Given the description of an element on the screen output the (x, y) to click on. 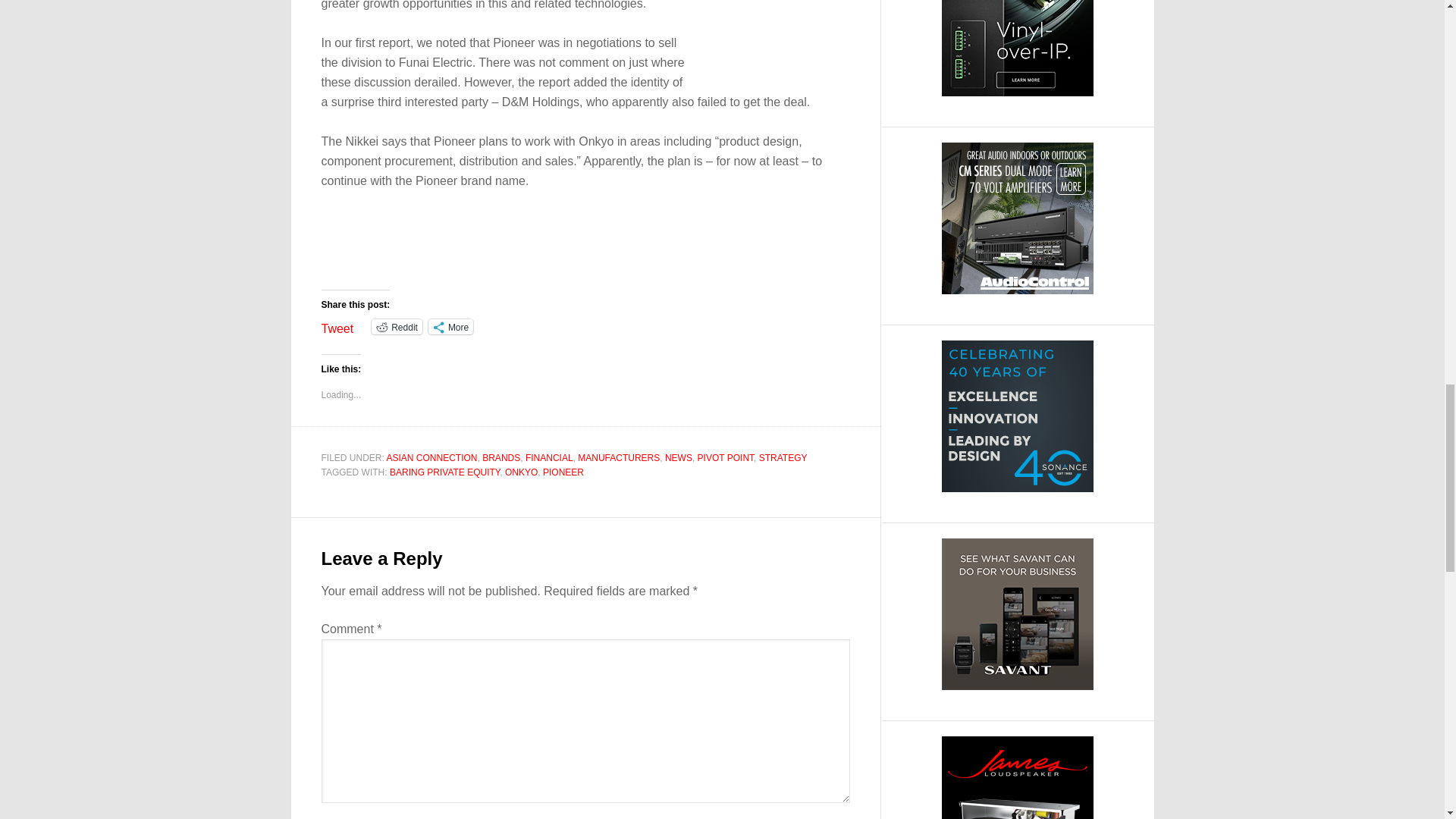
Click to share on Reddit (396, 326)
Advertisement (499, 257)
More (450, 326)
Reddit (396, 326)
Tweet (337, 325)
